Given the description of an element on the screen output the (x, y) to click on. 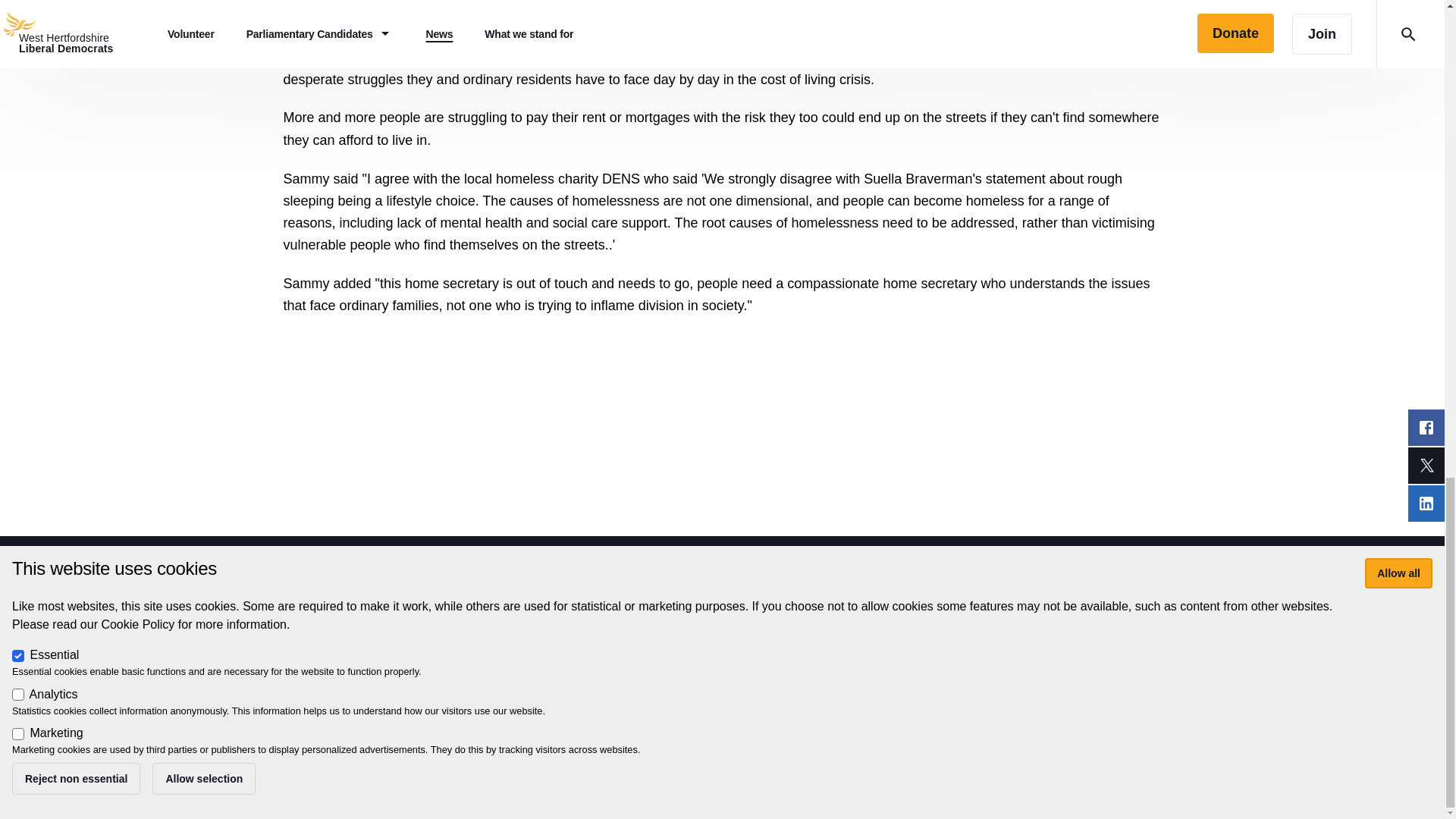
Liberal Democrats (406, 706)
Prater Raines (370, 724)
accessibility statement (635, 676)
cookie policy (741, 676)
